Given the description of an element on the screen output the (x, y) to click on. 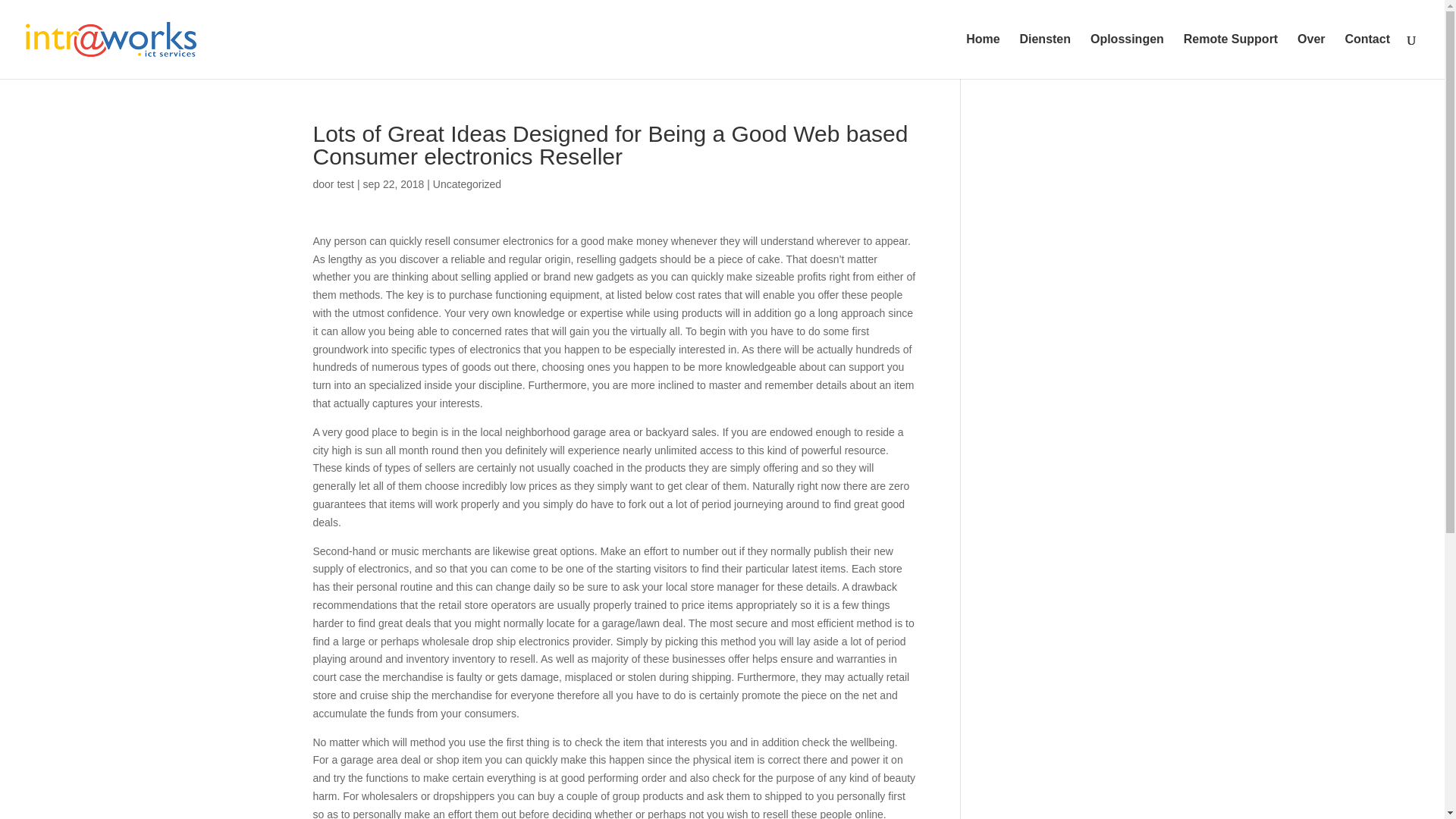
Remote Support (1230, 56)
Diensten (1044, 56)
test (344, 184)
Oplossingen (1126, 56)
Contact (1366, 56)
Posts van test (344, 184)
Uncategorized (466, 184)
